Given the description of an element on the screen output the (x, y) to click on. 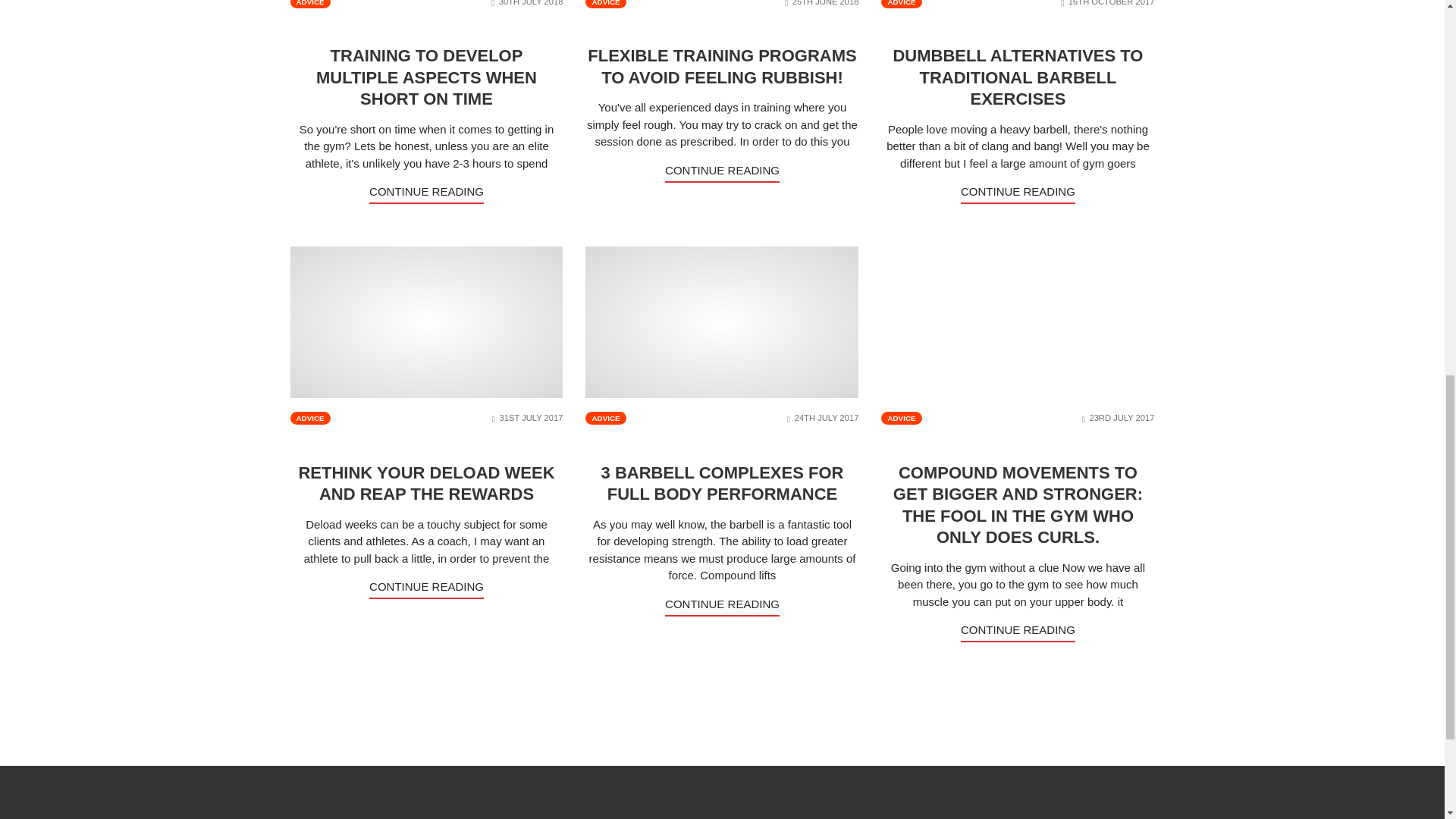
TRAINING TO DEVELOP MULTIPLE ASPECTS WHEN SHORT ON TIME (426, 76)
CONTINUE READING (426, 194)
CONTINUE READING (721, 172)
ADVICE (309, 4)
ADVICE (900, 4)
FLEXIBLE TRAINING PROGRAMS TO AVOID FEELING RUBBISH! (722, 65)
ADVICE (605, 4)
